Given the description of an element on the screen output the (x, y) to click on. 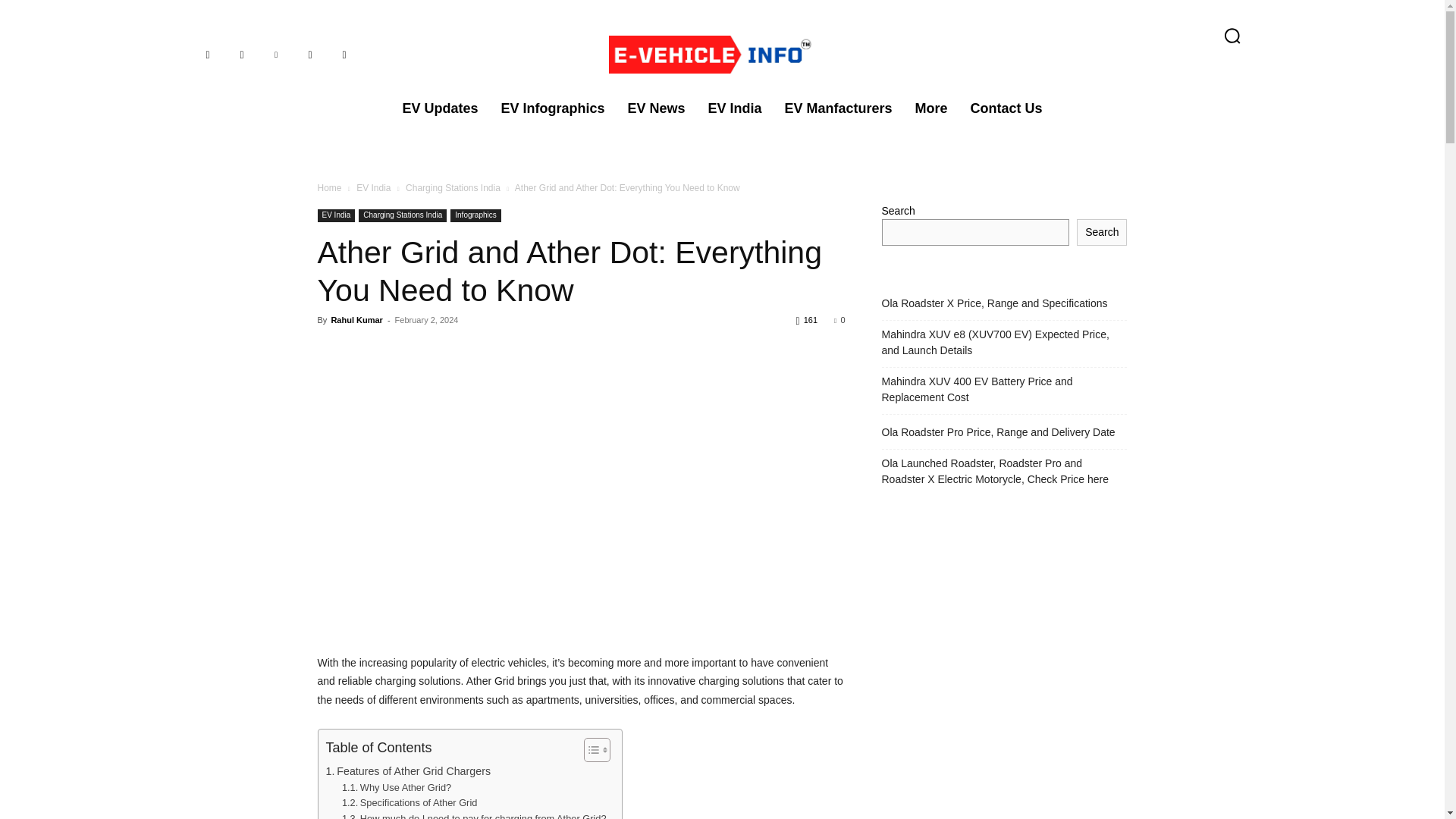
View all posts in Charging Stations India (453, 187)
Facebook (207, 53)
Telegram (310, 53)
Twitter (343, 53)
View all posts in EV India (373, 187)
Linkedin (275, 53)
Instagram (242, 53)
